Given the description of an element on the screen output the (x, y) to click on. 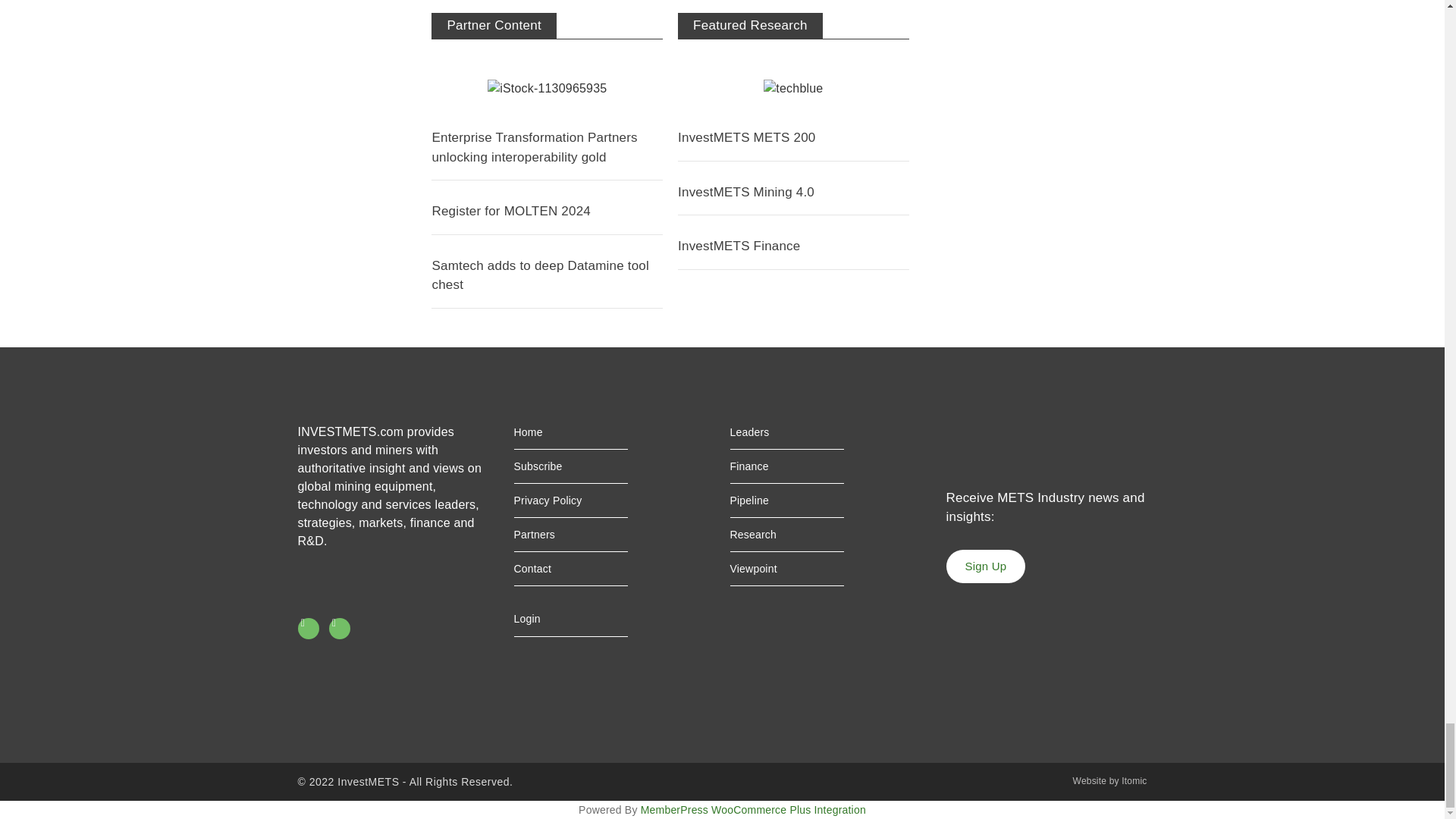
iStock-1130965935 (547, 88)
techblue (792, 88)
Samtech adds to deep Datamine tool chest (539, 275)
Register for MOLTEN 2024 (510, 210)
InvestMETS METS 200 (746, 137)
